Given the description of an element on the screen output the (x, y) to click on. 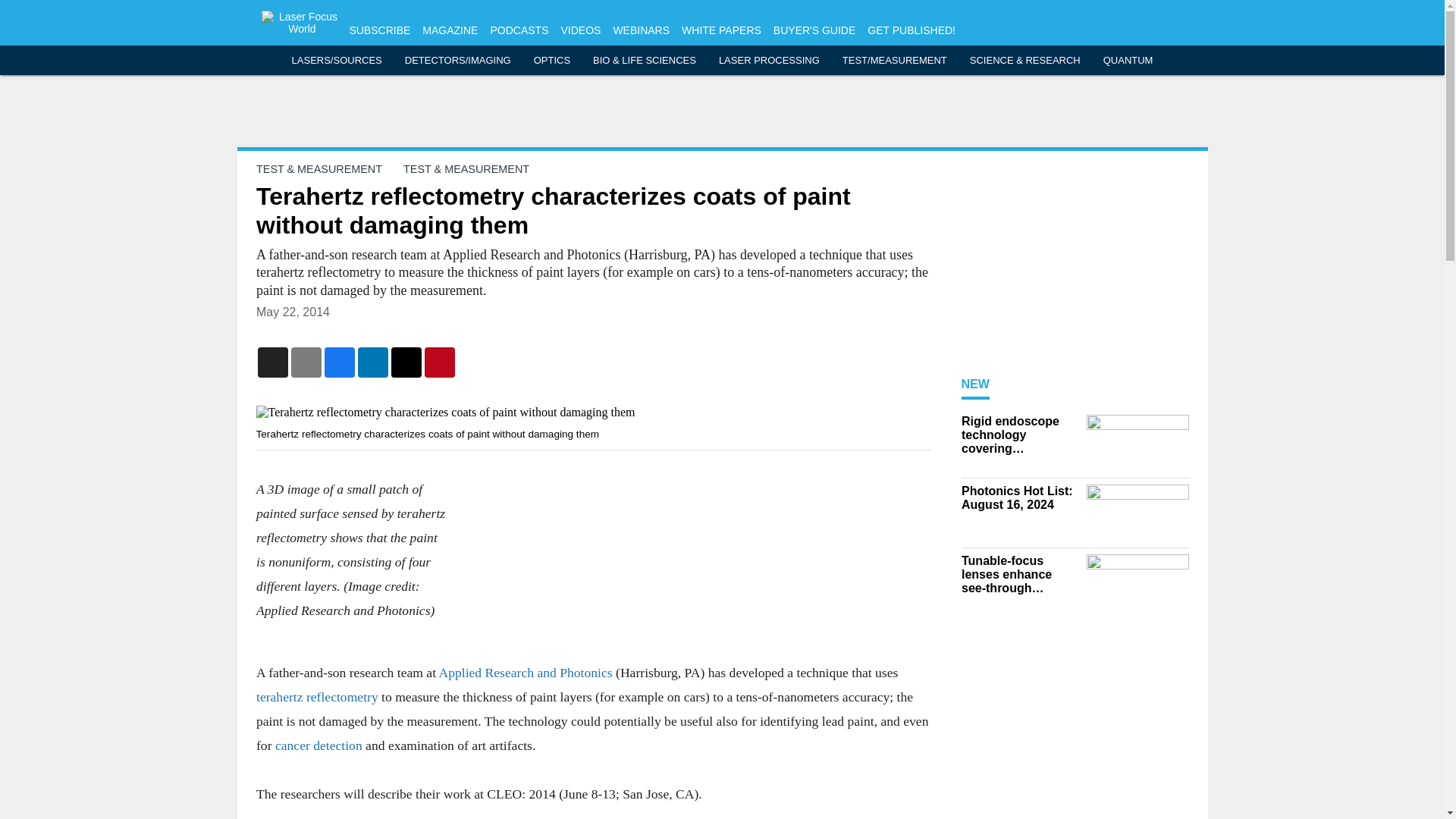
GET PUBLISHED! (911, 30)
VIDEOS (579, 30)
QUANTUM (1128, 60)
WEBINARS (640, 30)
cancer detection (318, 744)
LASER PROCESSING (769, 60)
OPTICS (552, 60)
BUYER'S GUIDE (814, 30)
SUBSCRIBE (379, 30)
